Given the description of an element on the screen output the (x, y) to click on. 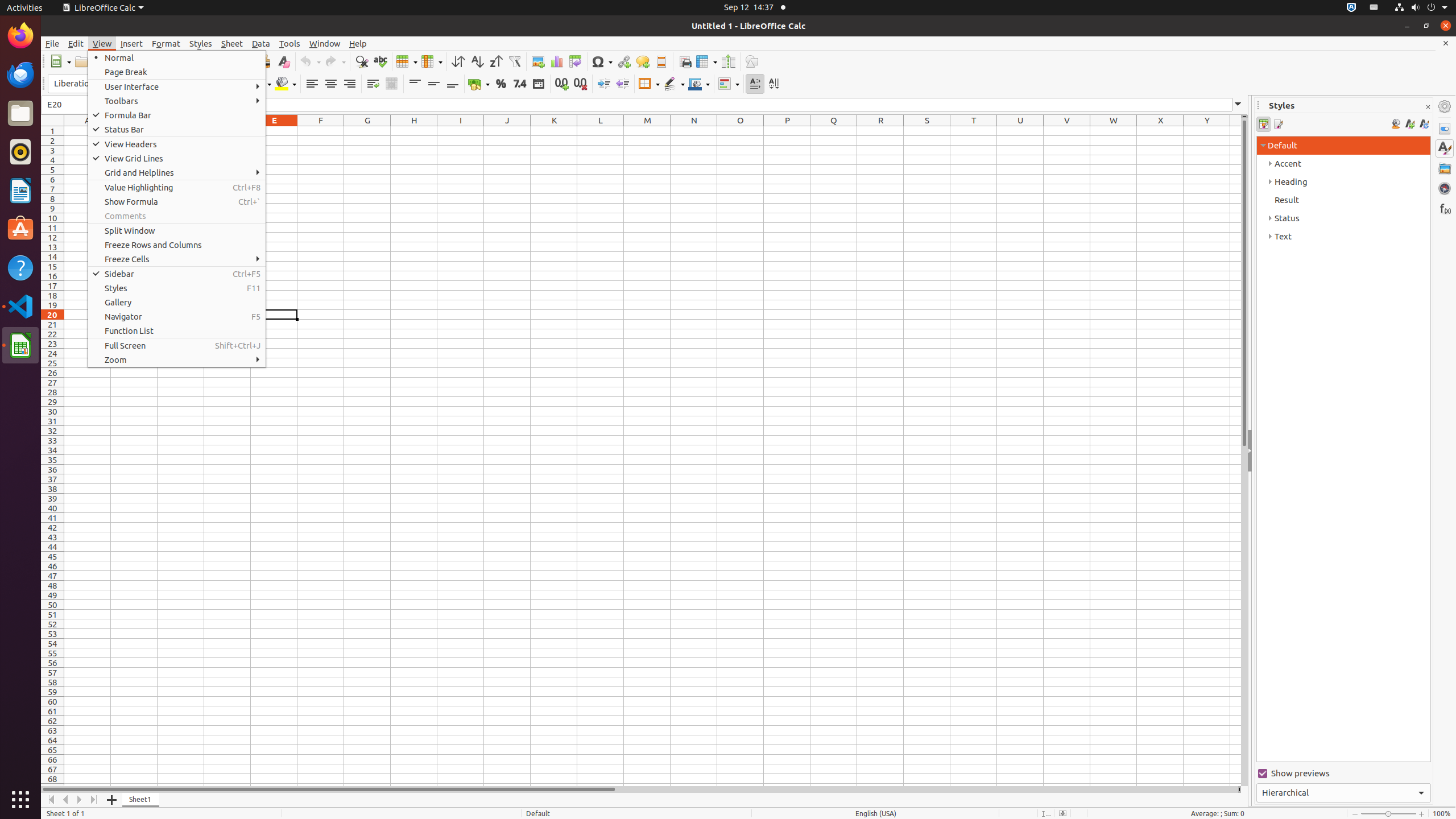
Add Decimal Place Element type: push-button (561, 83)
Number Element type: push-button (519, 83)
Close Sidebar Deck Element type: push-button (1427, 106)
Ubuntu Software Element type: push-button (20, 229)
Sheet Element type: menu (231, 43)
